Given the description of an element on the screen output the (x, y) to click on. 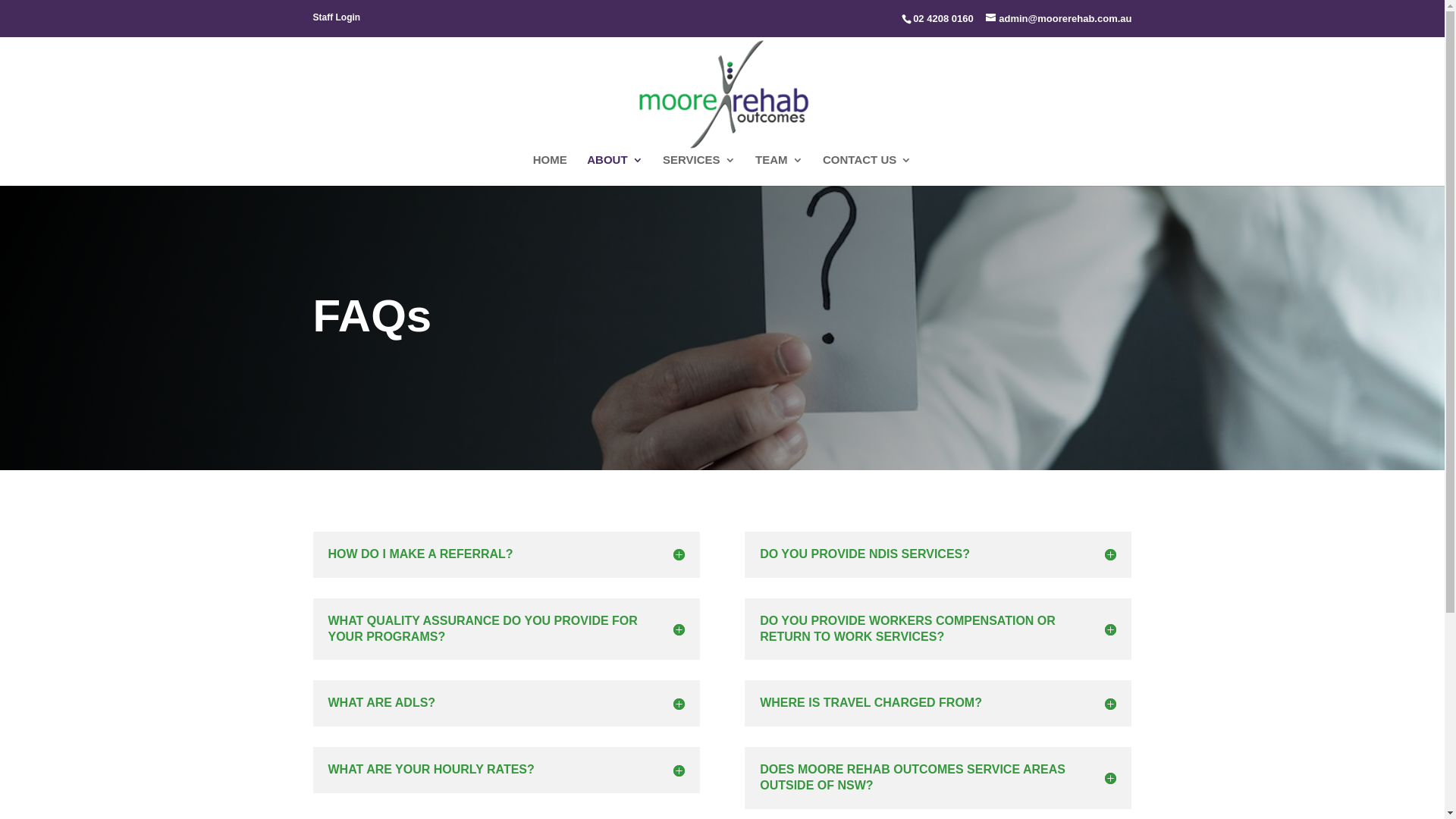
SERVICES Element type: text (698, 169)
ABOUT Element type: text (614, 169)
CONTACT US Element type: text (866, 169)
TEAM Element type: text (779, 169)
Staff Login Element type: text (336, 20)
HOME Element type: text (550, 169)
admin@moorerehab.com.au Element type: text (1058, 18)
